Given the description of an element on the screen output the (x, y) to click on. 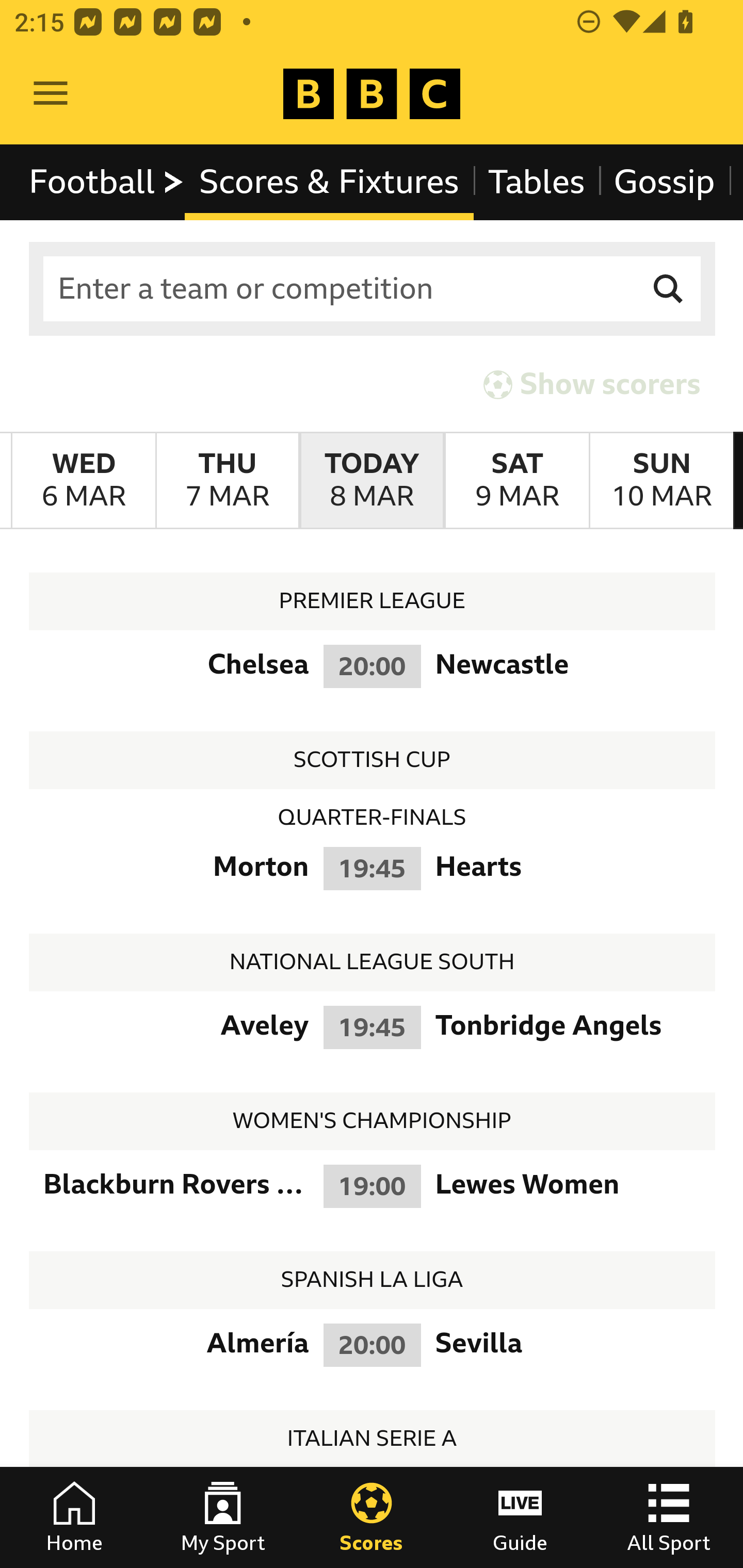
Open Menu (50, 93)
Football  (106, 181)
Scores & Fixtures (329, 181)
Tables (536, 181)
Gossip (664, 181)
Search (669, 289)
Show scorers (591, 383)
WednesdayMarch 6th Wednesday March 6th (83, 480)
ThursdayMarch 7th Thursday March 7th (227, 480)
TodayMarch 8th Today March 8th (371, 480)
SaturdayMarch 9th Saturday March 9th (516, 480)
SundayMarch 10th Sunday March 10th (661, 480)
Home (74, 1517)
My Sport (222, 1517)
Guide (519, 1517)
All Sport (668, 1517)
